Given the description of an element on the screen output the (x, y) to click on. 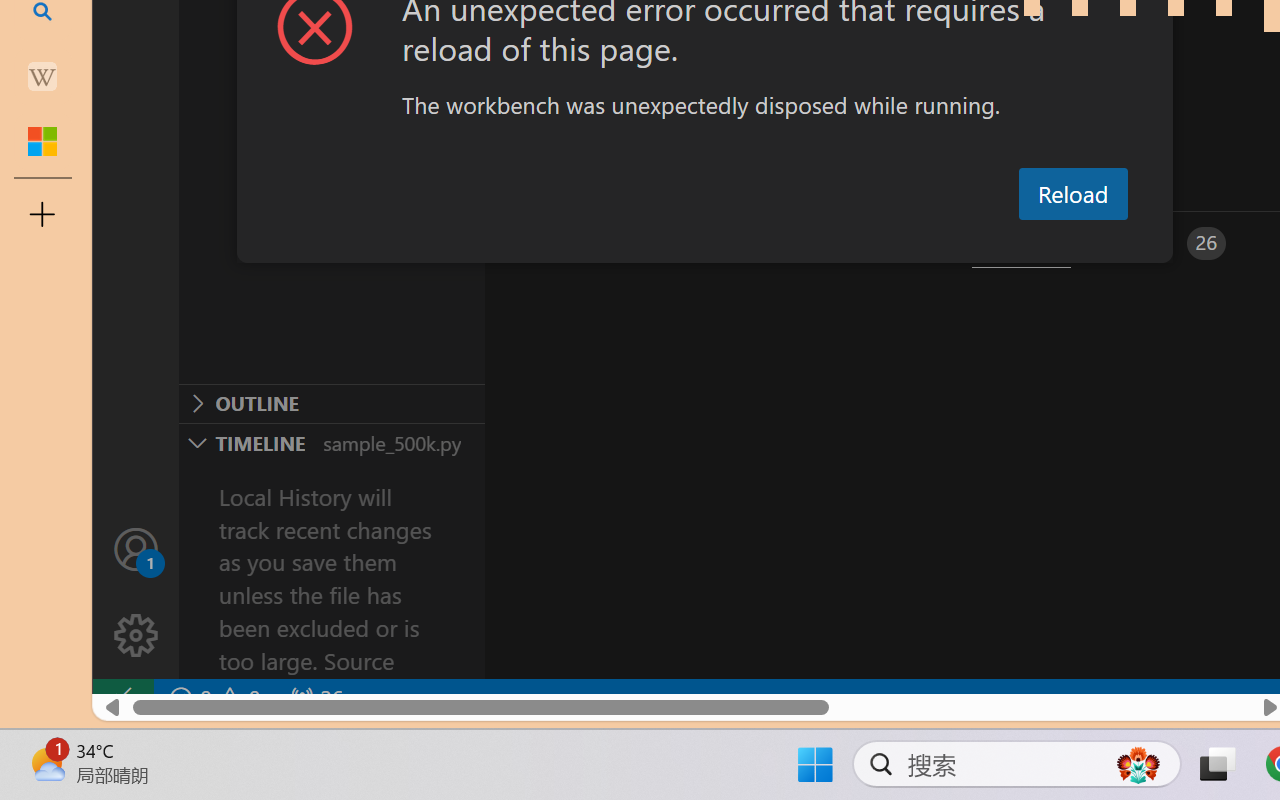
Timeline Section (331, 442)
Outline Section (331, 403)
Problems (Ctrl+Shift+M) (567, 243)
Debug Console (Ctrl+Shift+Y) (854, 243)
Accounts - Sign in requested (135, 548)
remote (122, 698)
Reload (1071, 193)
No Problems (212, 698)
